Given the description of an element on the screen output the (x, y) to click on. 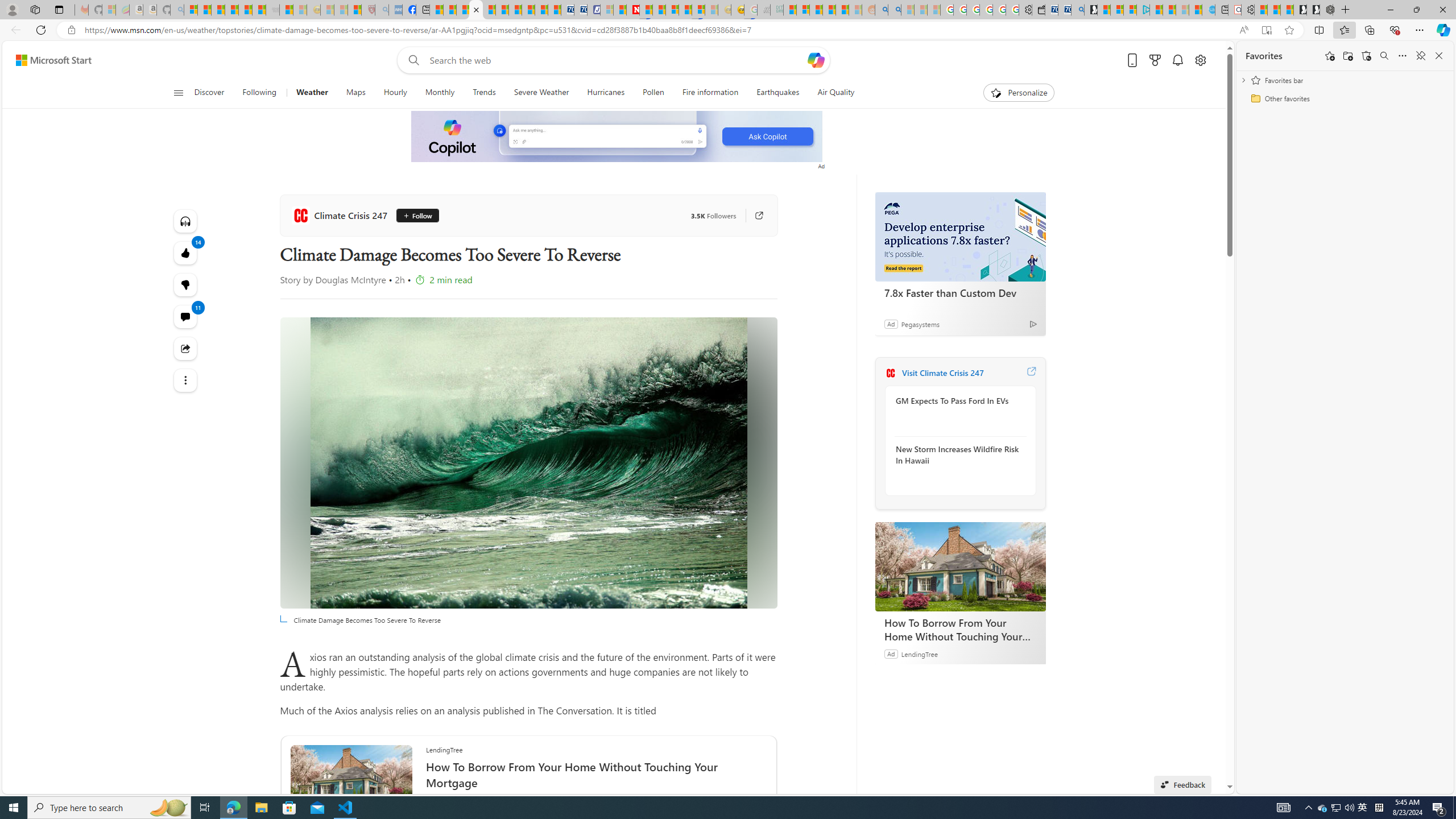
Severe Weather (540, 92)
Climate Damage Becomes Too Severe To Reverse (475, 9)
